Given the description of an element on the screen output the (x, y) to click on. 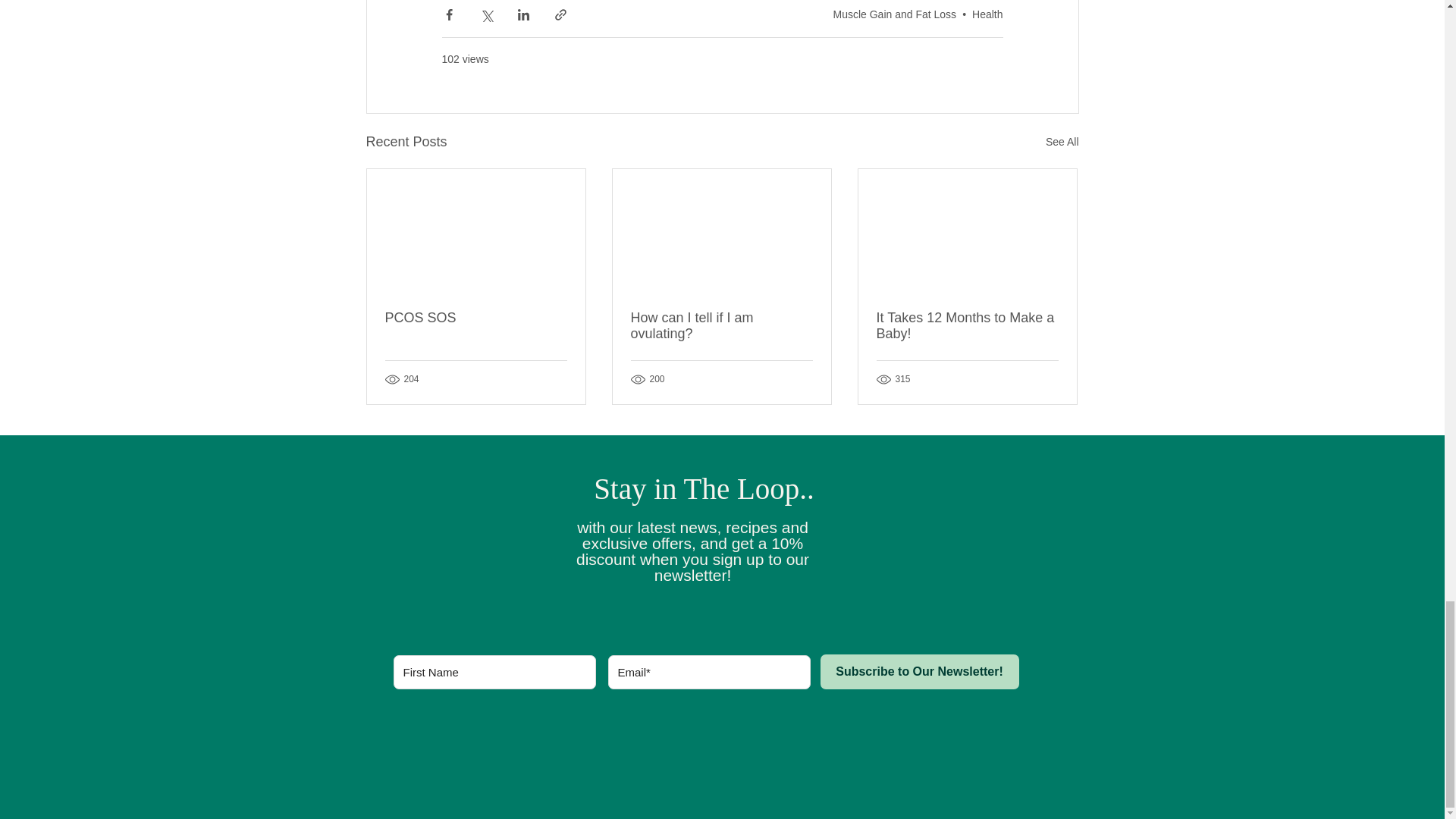
Muscle Gain and Fat Loss (894, 13)
